Given the description of an element on the screen output the (x, y) to click on. 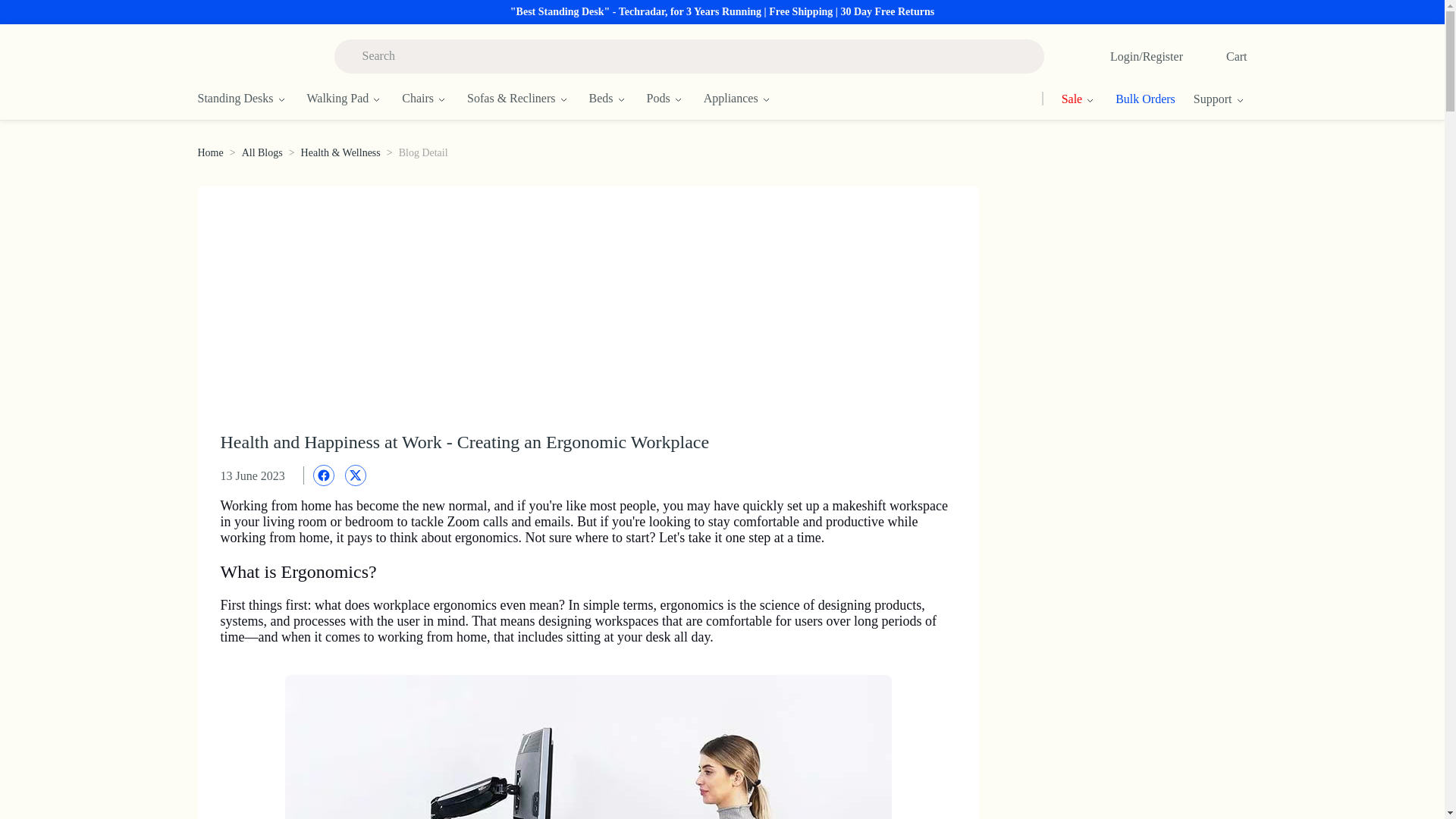
Walking Pad (353, 98)
Cart (1219, 55)
Bulk Orders (1135, 98)
Chairs (434, 98)
Home (209, 152)
Standing Desks (250, 98)
All Blogs (261, 152)
Pods (674, 98)
Beds (617, 98)
Appliances (747, 98)
